Given the description of an element on the screen output the (x, y) to click on. 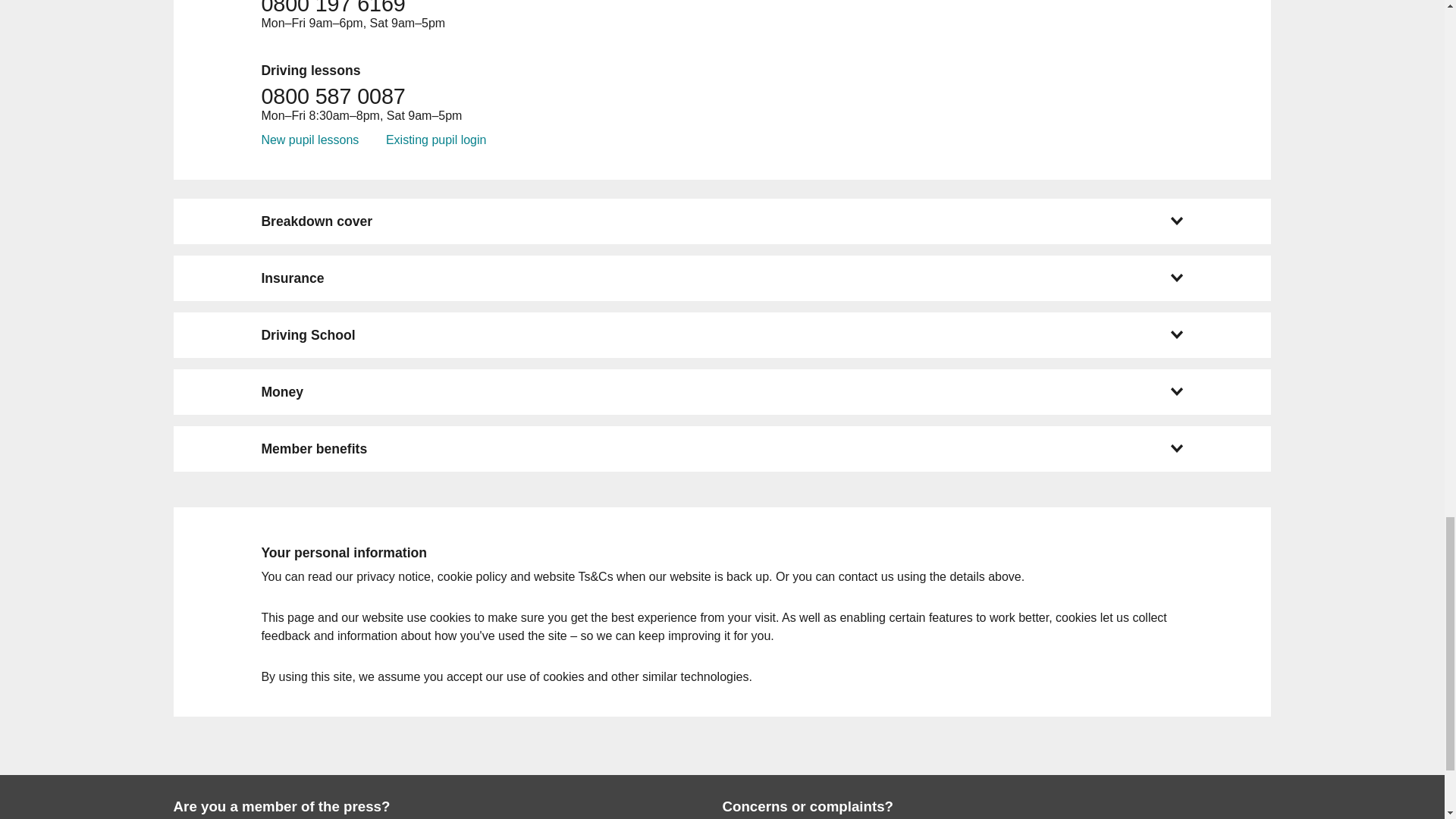
New pupil lessons (309, 140)
Existing pupil login (435, 140)
